Given the description of an element on the screen output the (x, y) to click on. 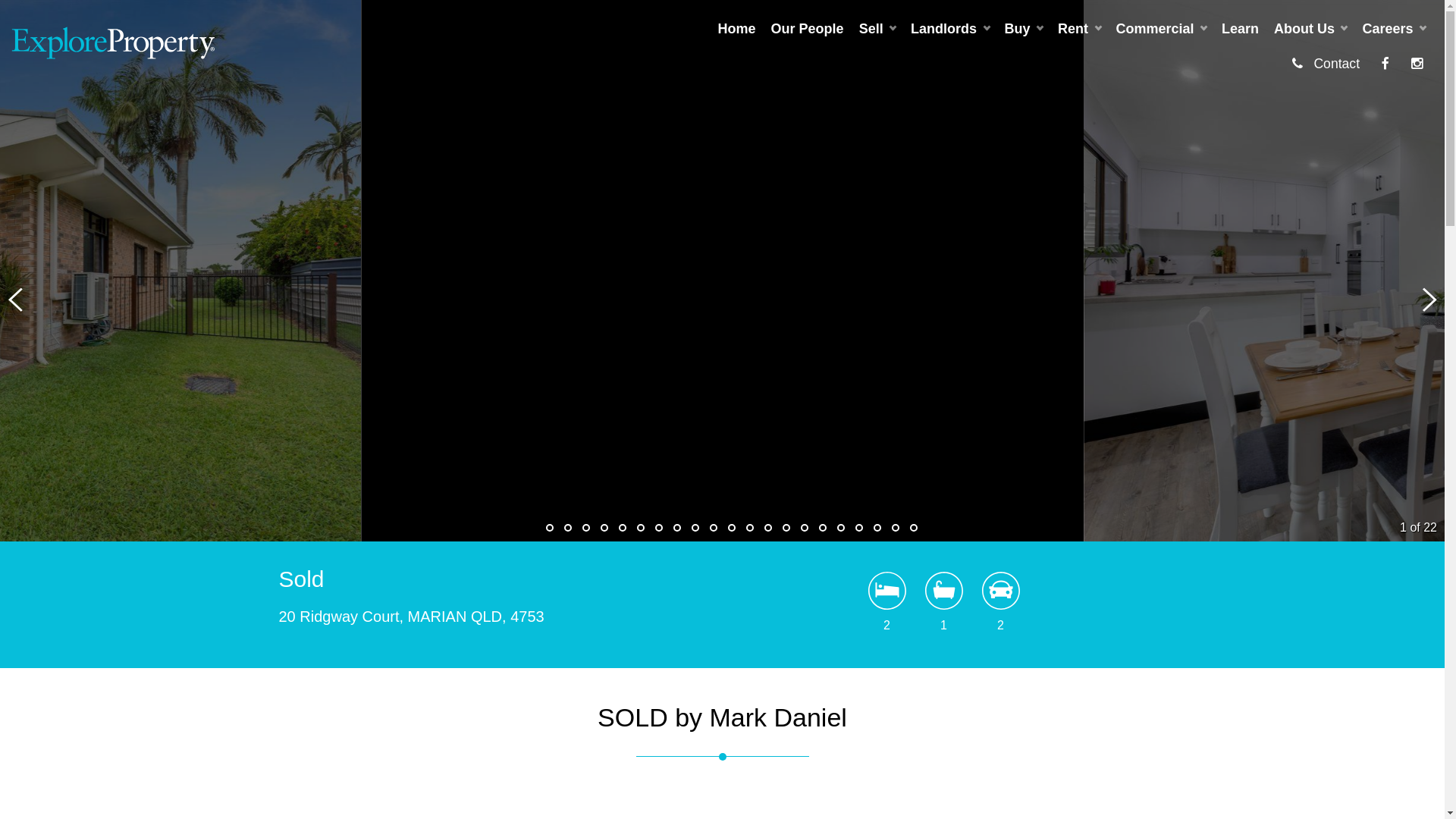
Rent Element type: text (1078, 29)
Contact Element type: text (1325, 64)
Landlords Element type: text (949, 29)
Learn Element type: text (1240, 29)
Sell Element type: text (877, 29)
About Us Element type: text (1310, 29)
Commercial Element type: text (1161, 29)
Buy Element type: text (1023, 29)
Careers Element type: text (1393, 29)
Home Element type: text (736, 29)
Our People Element type: text (807, 29)
